Given the description of an element on the screen output the (x, y) to click on. 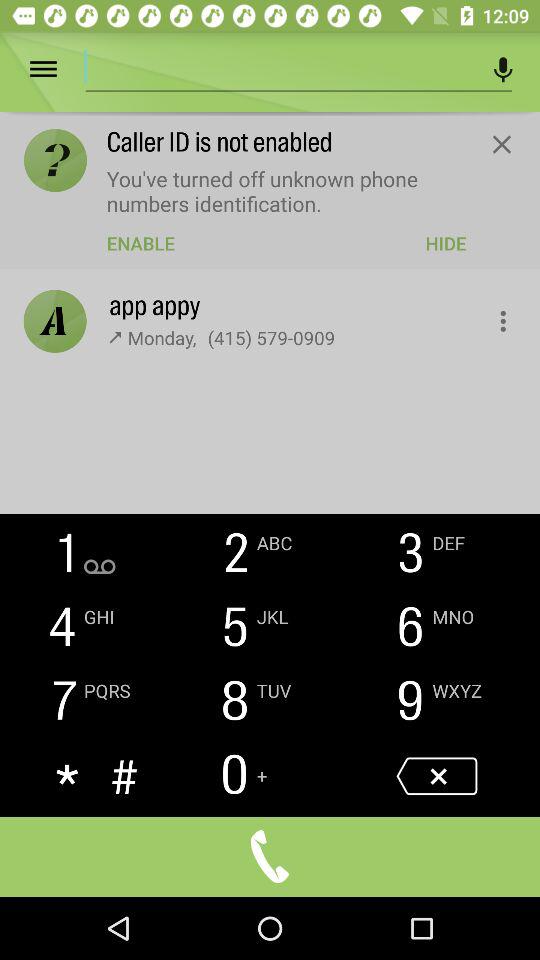
open menu (57, 69)
